Given the description of an element on the screen output the (x, y) to click on. 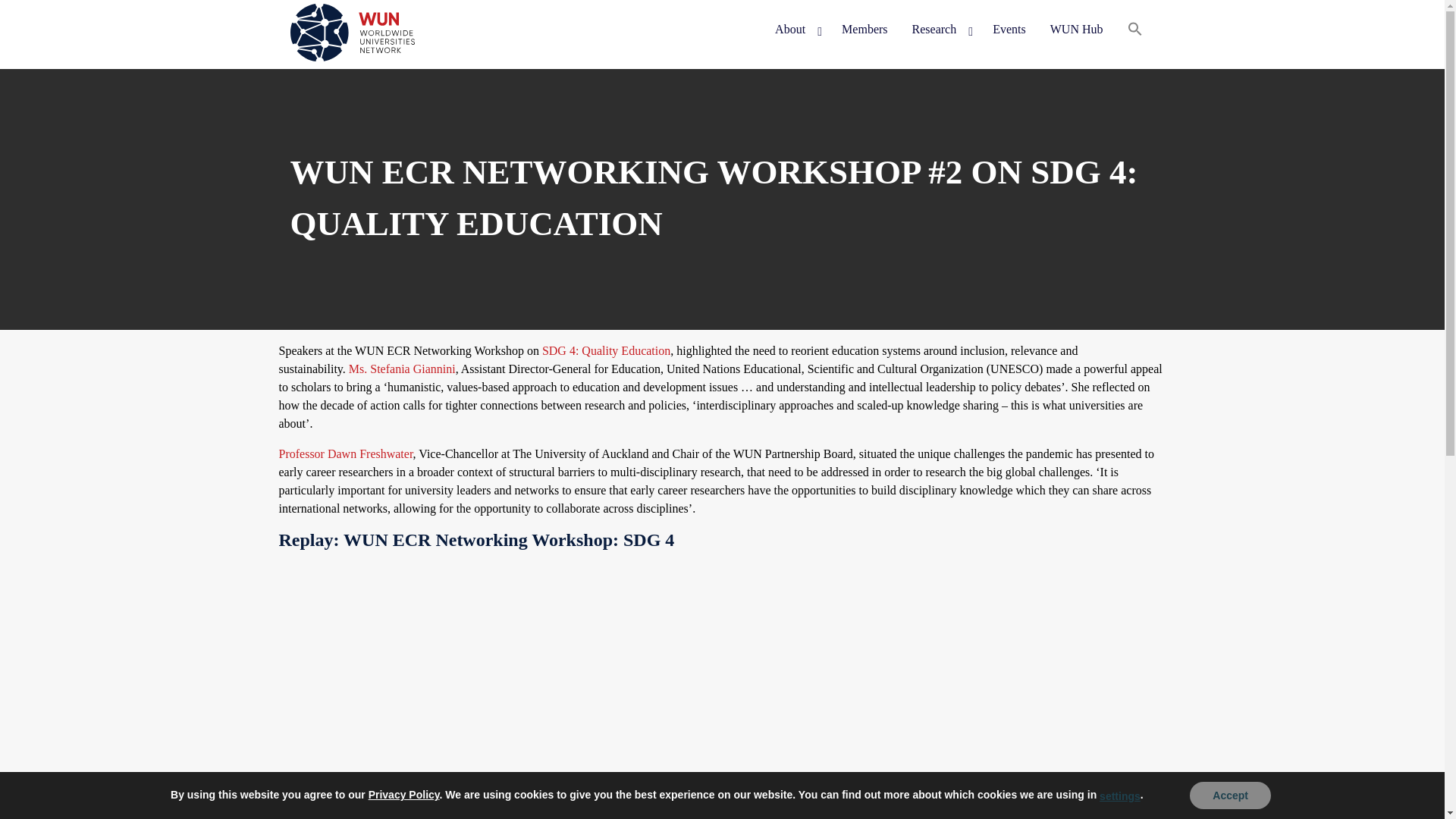
WUN ECR Workshop on SDG 4: Quality Education (521, 690)
Research (940, 29)
About (795, 29)
Members (864, 29)
WUN (318, 83)
WUN Hub (1076, 29)
Events (1008, 29)
